Given the description of an element on the screen output the (x, y) to click on. 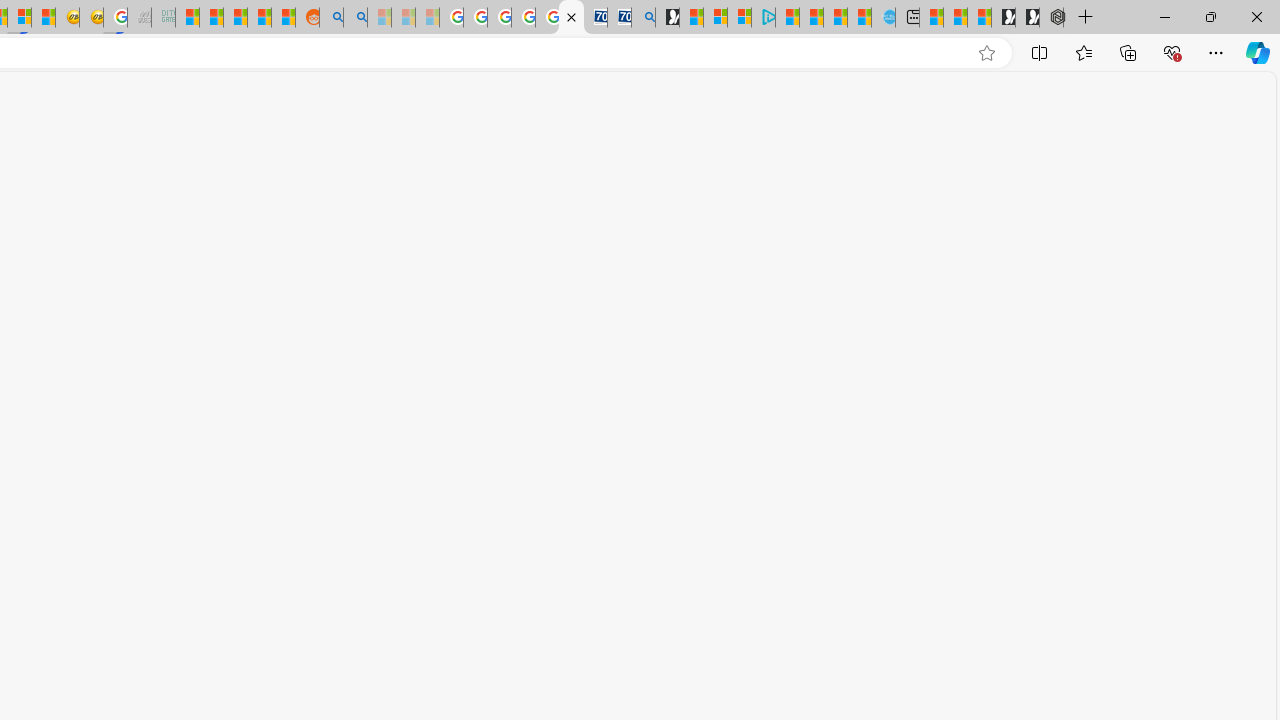
Bing Real Estate - Home sales and rental listings (643, 17)
